Given the description of an element on the screen output the (x, y) to click on. 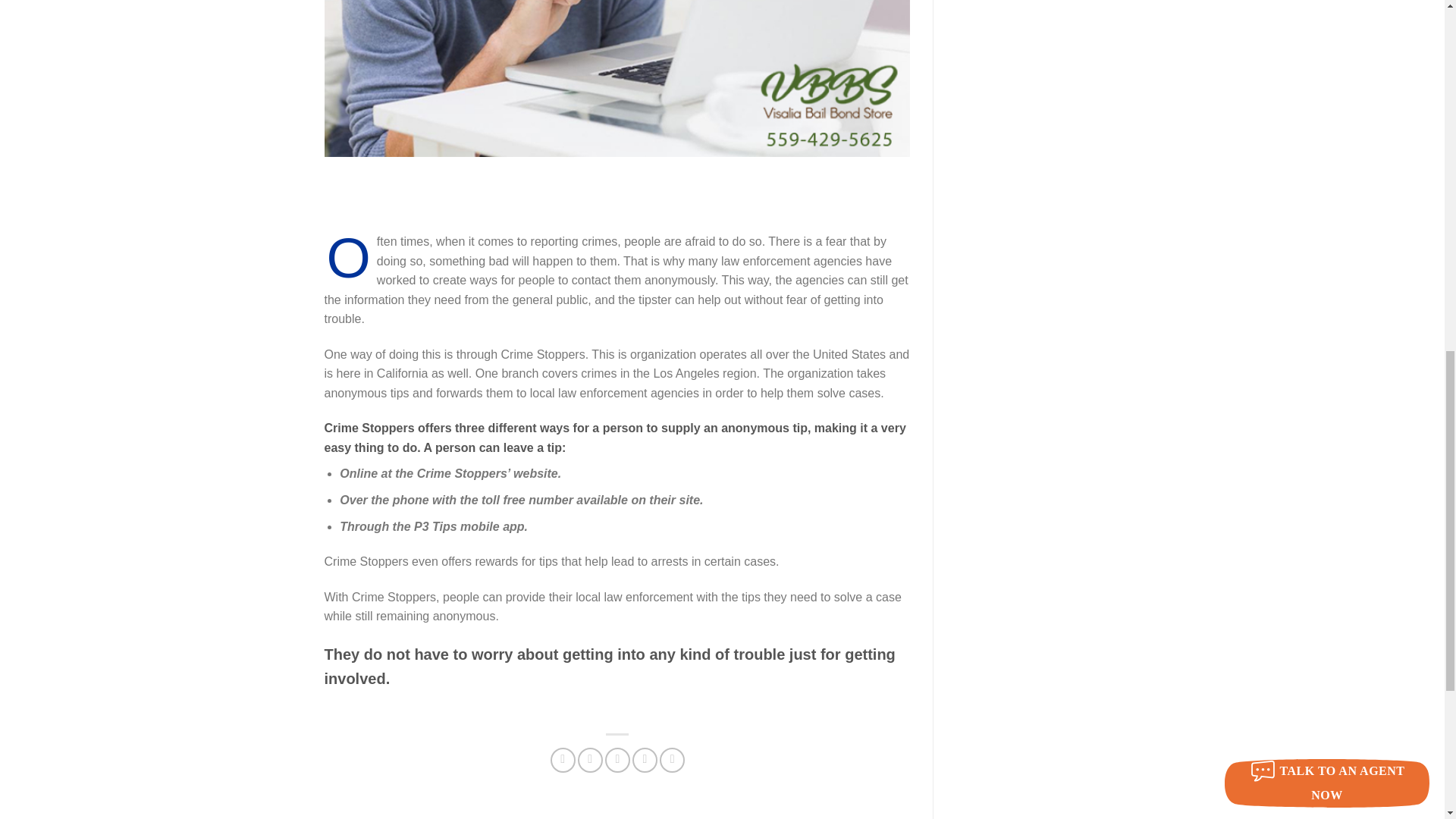
Share on Twitter (590, 760)
Pin on Pinterest (644, 760)
Share on Facebook (562, 760)
Email to a Friend (617, 760)
Share on LinkedIn (671, 760)
